Given the description of an element on the screen output the (x, y) to click on. 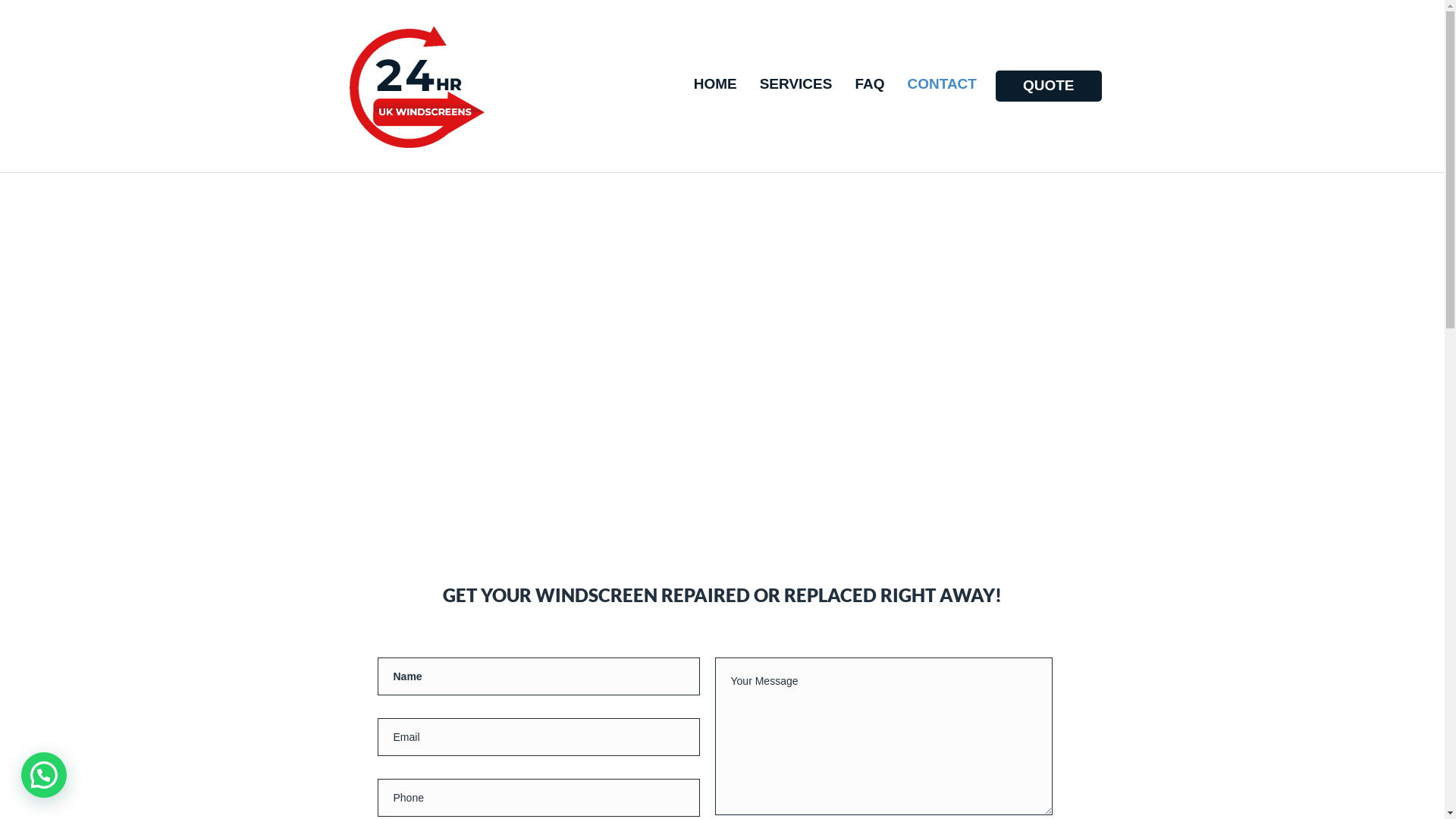
CONTACT Element type: text (941, 84)
SERVICES Element type: text (796, 84)
QUOTE Element type: text (1048, 85)
FAQ Element type: text (869, 84)
HOME Element type: text (715, 84)
